Given the description of an element on the screen output the (x, y) to click on. 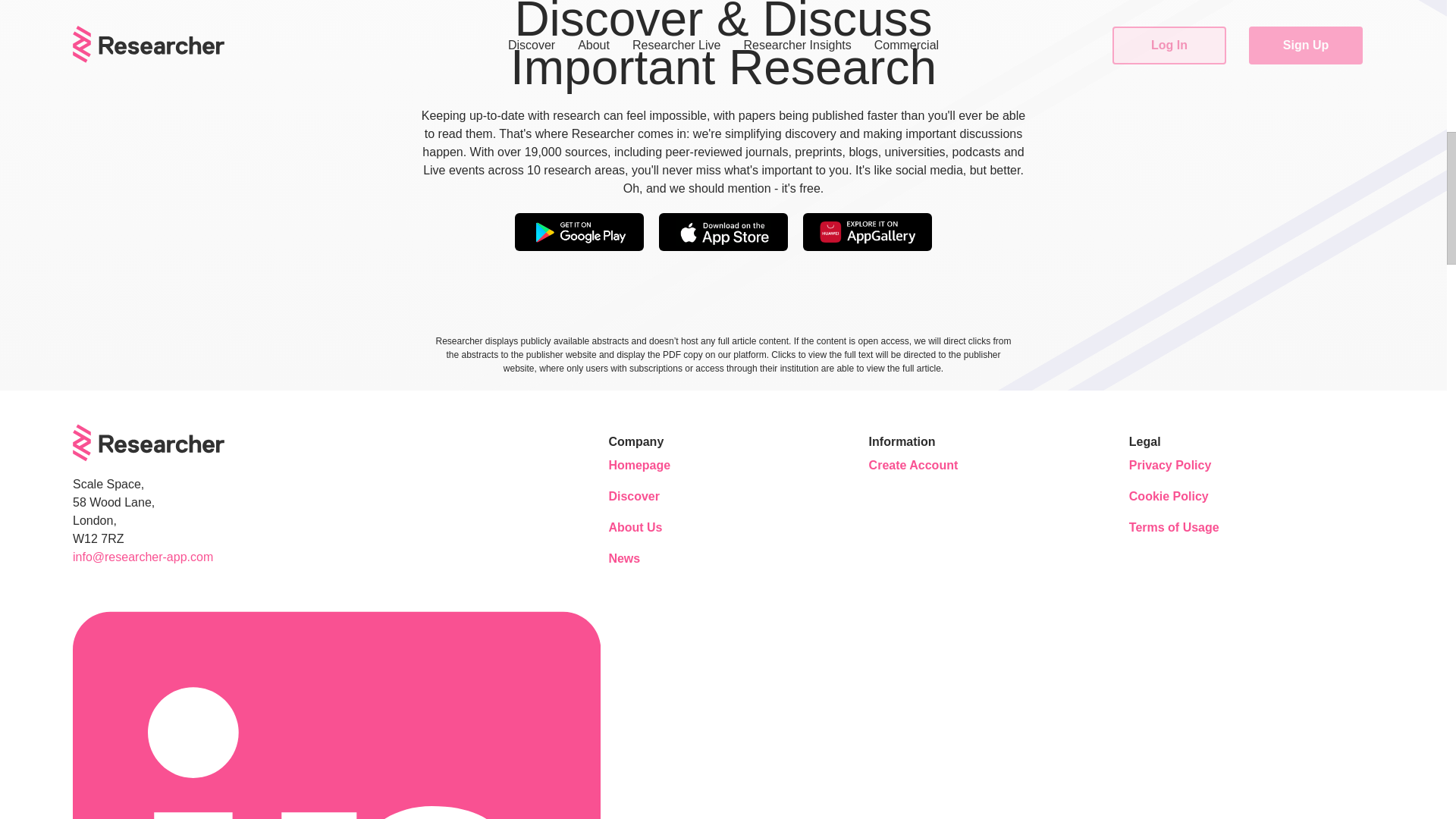
Homepage (653, 465)
Terms of Usage (1173, 527)
Cookie Policy (1173, 496)
Create Account (914, 465)
Privacy Policy (1173, 465)
News (653, 558)
About Us (653, 527)
Discover (653, 496)
